Given the description of an element on the screen output the (x, y) to click on. 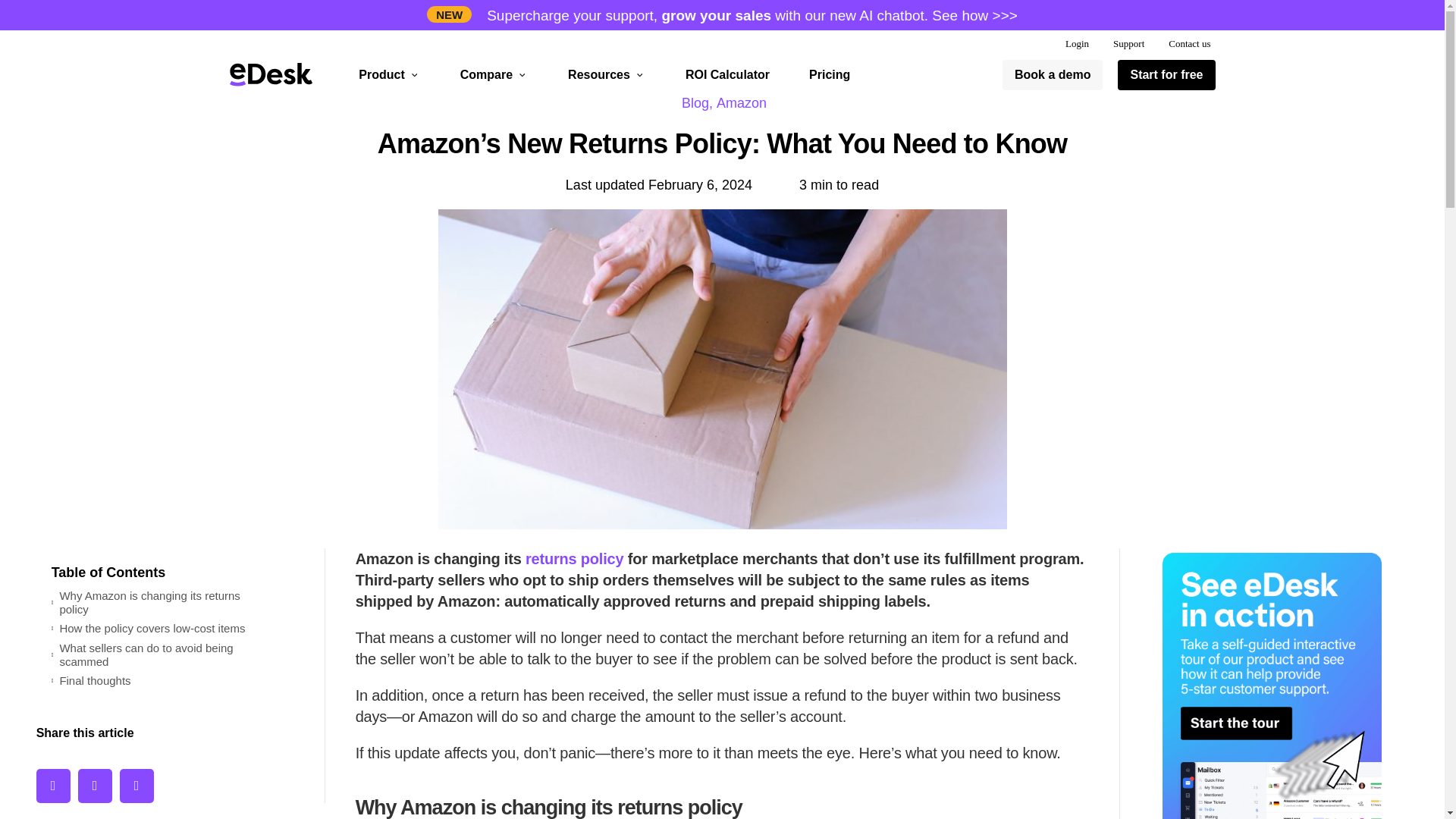
Pricing (829, 74)
Contact us (1189, 43)
Book a demo (1052, 74)
ROI Calculator (727, 74)
Support (1128, 43)
Start for free (1165, 74)
Login (1077, 43)
